Given the description of an element on the screen output the (x, y) to click on. 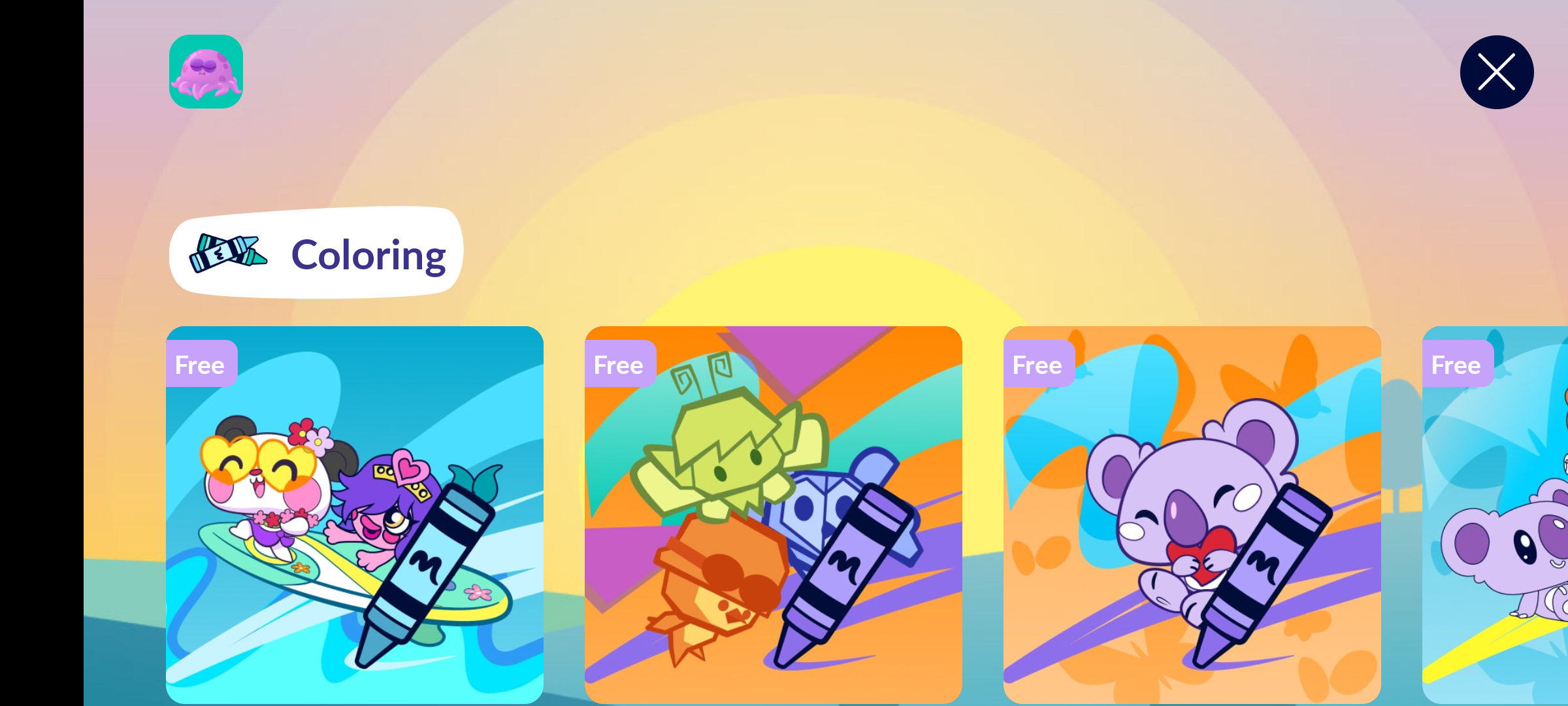
Profile icon (205, 71)
Featured Content Free (355, 514)
Featured Content Free (773, 514)
Featured Content Free (1192, 514)
